Given the description of an element on the screen output the (x, y) to click on. 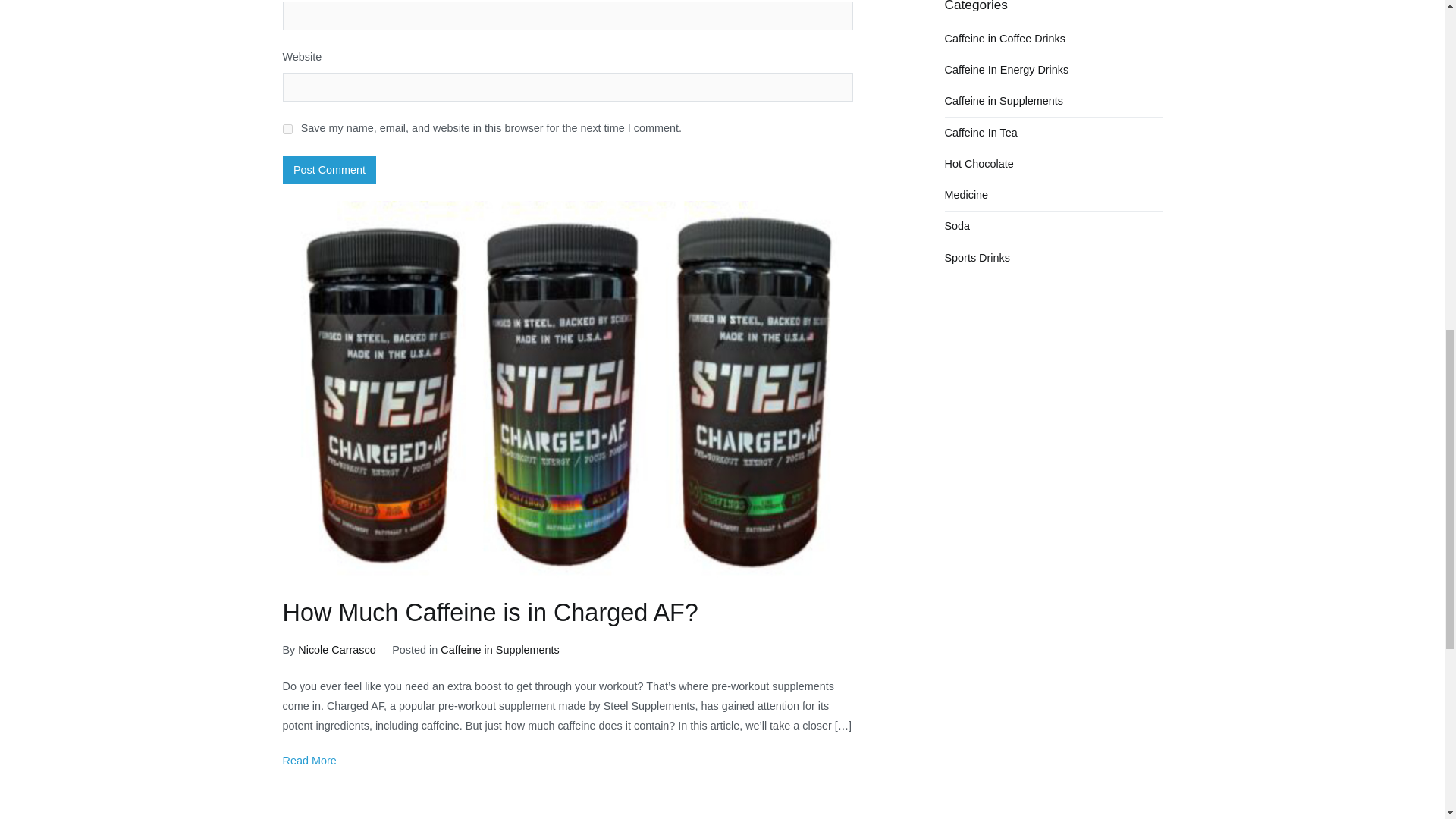
How Much Caffeine is in Charged AF? (489, 612)
yes (287, 129)
Caffeine In Energy Drinks (1006, 70)
Caffeine in Supplements (500, 649)
Hot Chocolate (978, 164)
Nicole Carrasco (336, 649)
Post Comment (328, 169)
Medicine (966, 195)
Post Comment (328, 169)
Caffeine In Tea (980, 132)
